Given the description of an element on the screen output the (x, y) to click on. 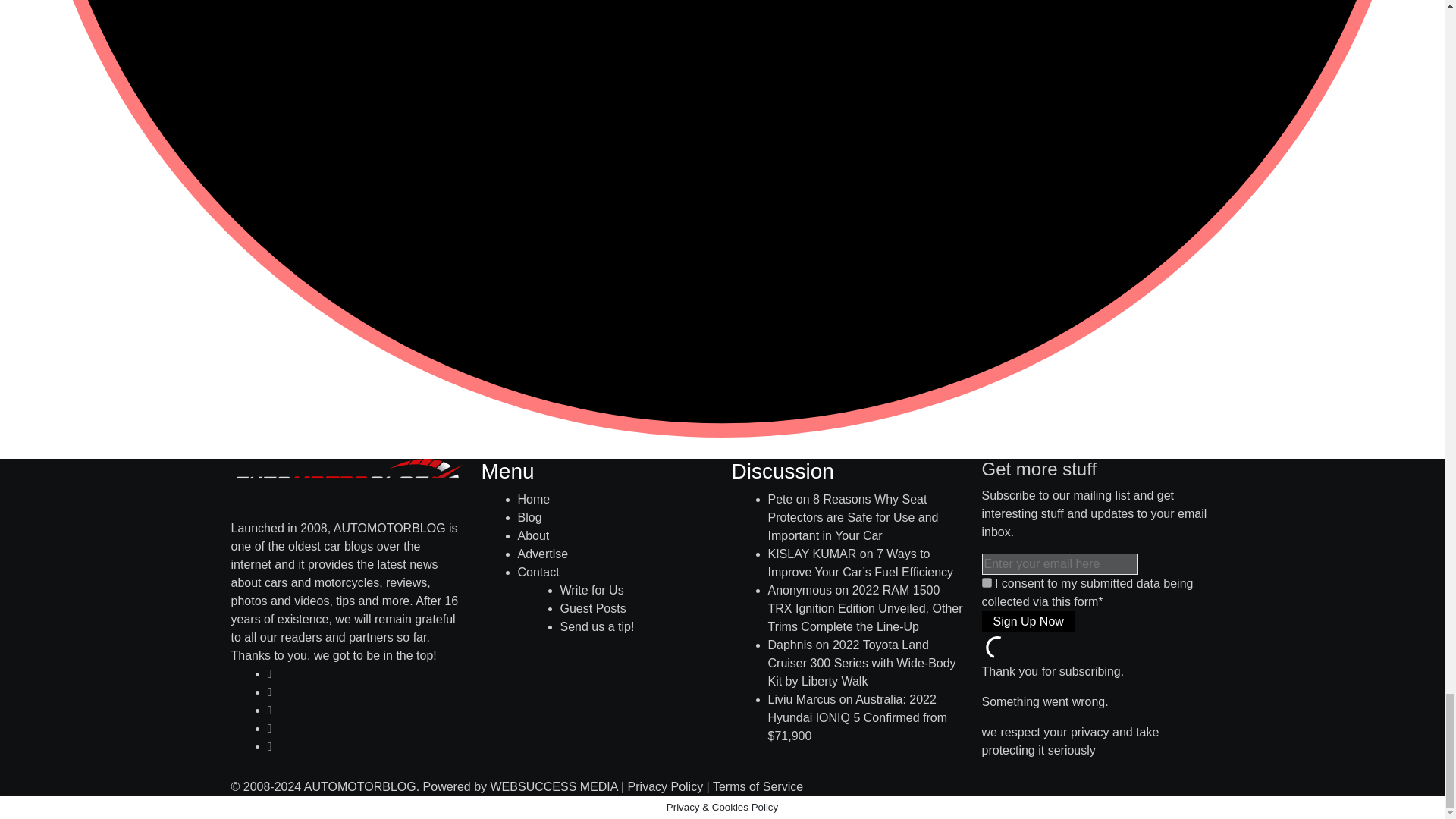
Sign Up Now (1027, 621)
on (986, 583)
Privacy Policy (665, 786)
